Given the description of an element on the screen output the (x, y) to click on. 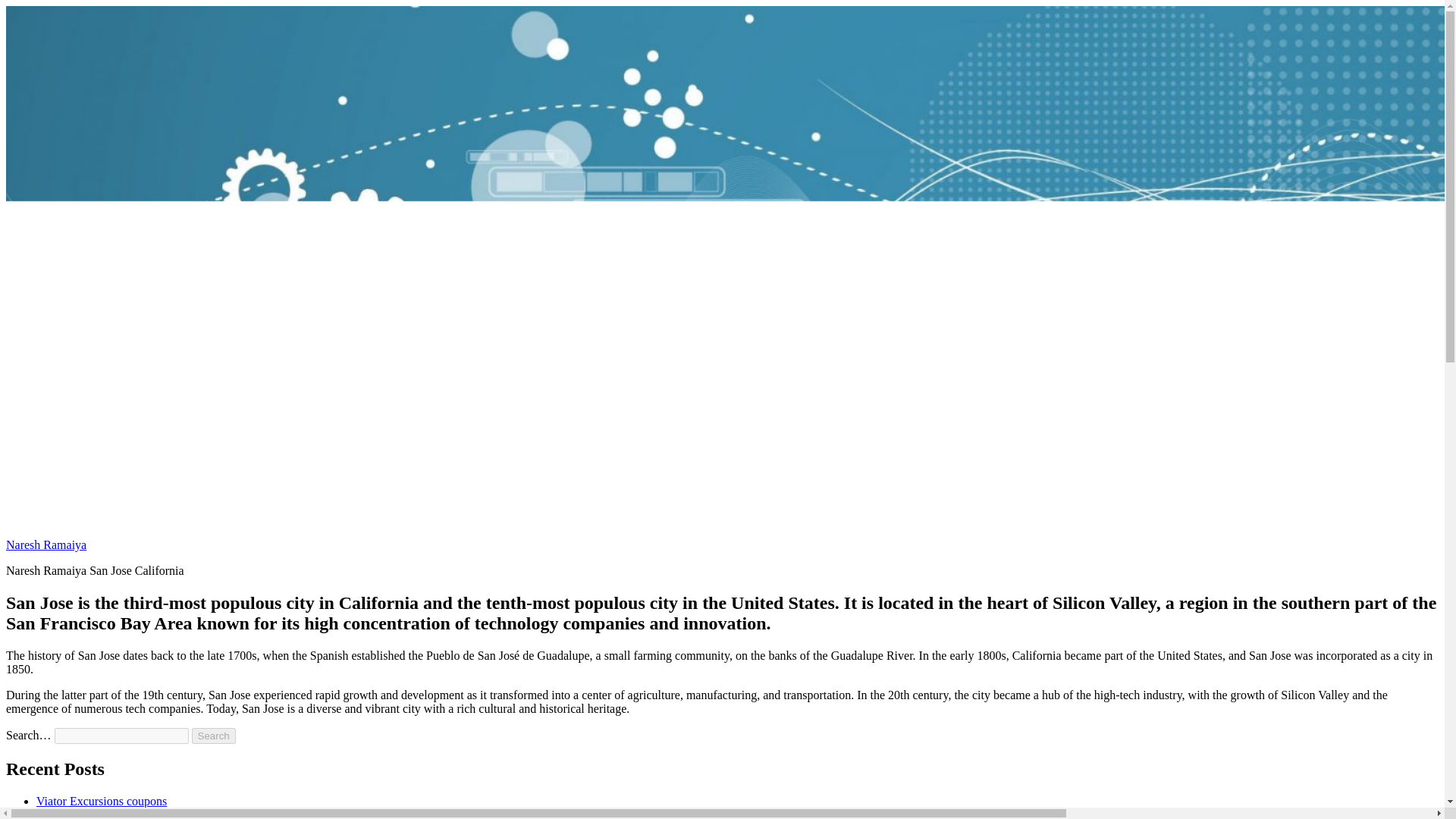
Search (213, 735)
Search (213, 735)
Search (213, 735)
Naresh Ramaiya (45, 544)
Viator Excursions coupons (101, 800)
CHATGPT layoffs (82, 813)
